Given the description of an element on the screen output the (x, y) to click on. 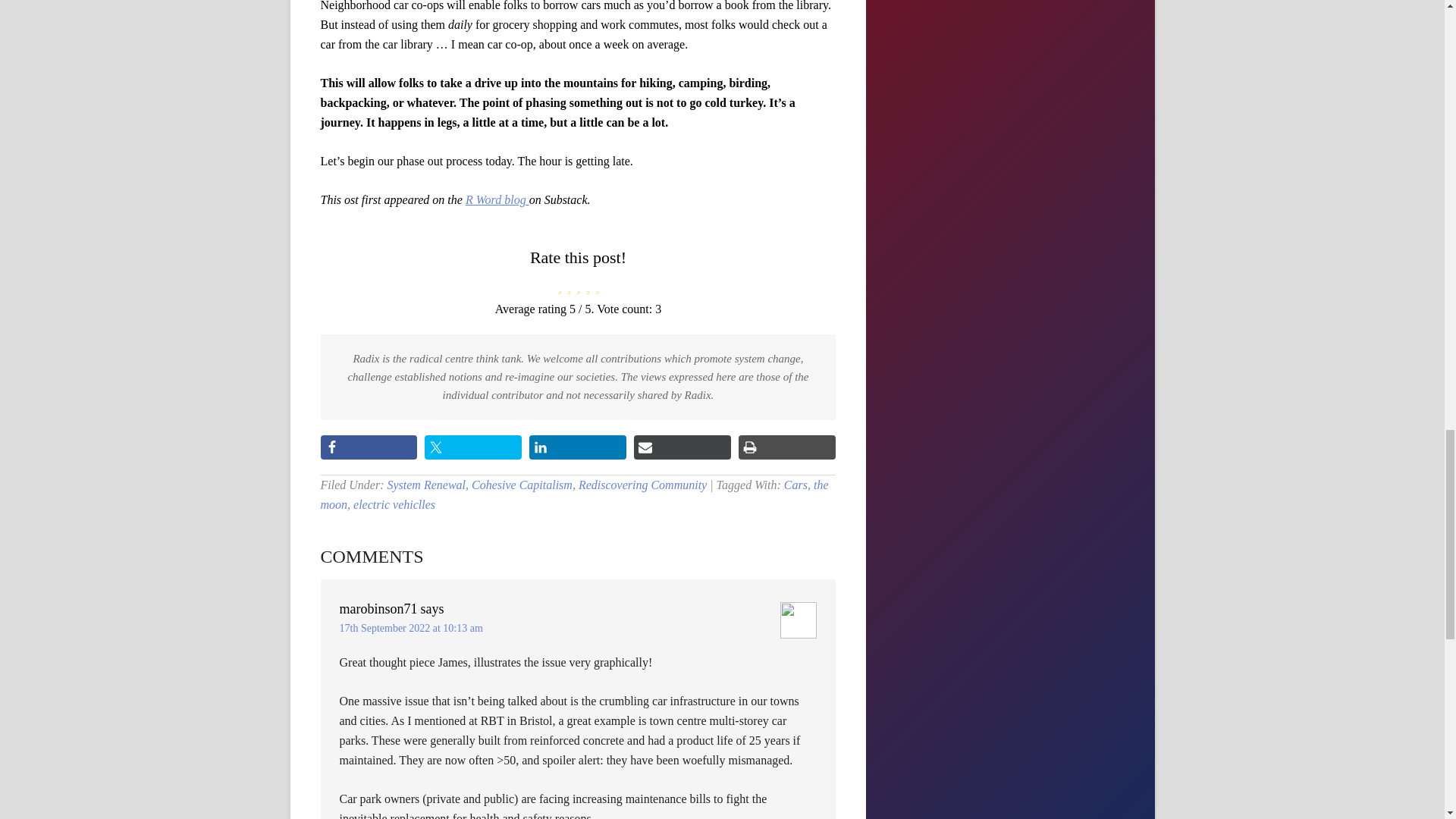
17th September 2022 at 10:13 am (411, 627)
Share on Facebook (368, 446)
Rediscovering Community (642, 484)
electric vehiclles (394, 504)
Print this Page (786, 446)
System Renewal (426, 484)
Cars (796, 484)
Cohesive Capitalism (521, 484)
Share via Email (681, 446)
R Word blog (497, 199)
Share on LinkedIn (577, 446)
the moon (574, 494)
Share on Twitter (473, 446)
